Given the description of an element on the screen output the (x, y) to click on. 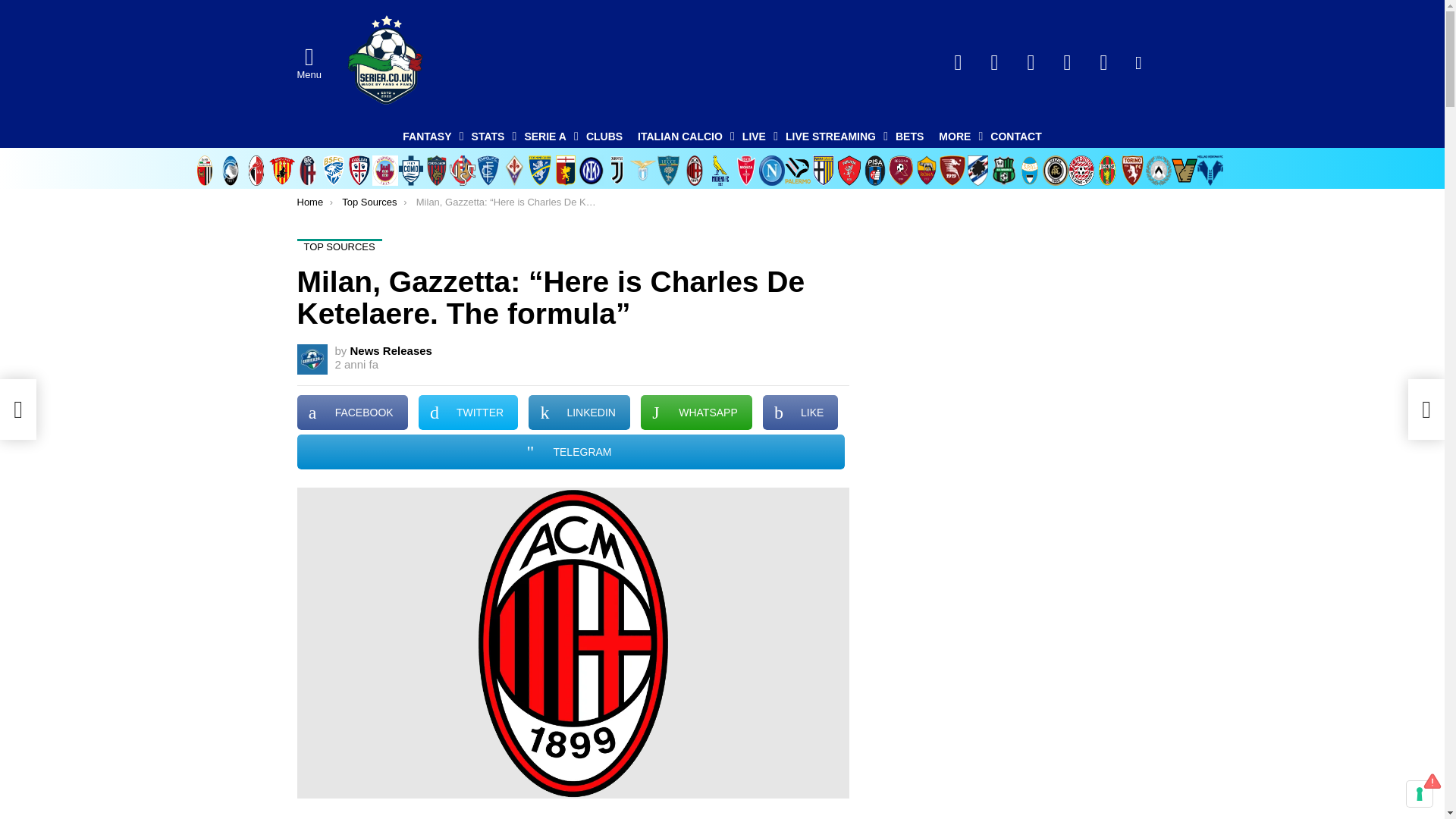
Telegram (1031, 62)
FANTASY (428, 136)
Share on Like (800, 411)
Share on WhatsApp (696, 411)
Share on Twitter (468, 411)
SERIE A (547, 136)
Share on LinkedIn (579, 411)
Facebook (958, 62)
Linkedin (1067, 62)
Twitter (994, 62)
Posts by News Releases (391, 350)
STATS (490, 136)
Instagram (1104, 62)
Share on Facebook (352, 411)
Share on Telegram (570, 451)
